Given the description of an element on the screen output the (x, y) to click on. 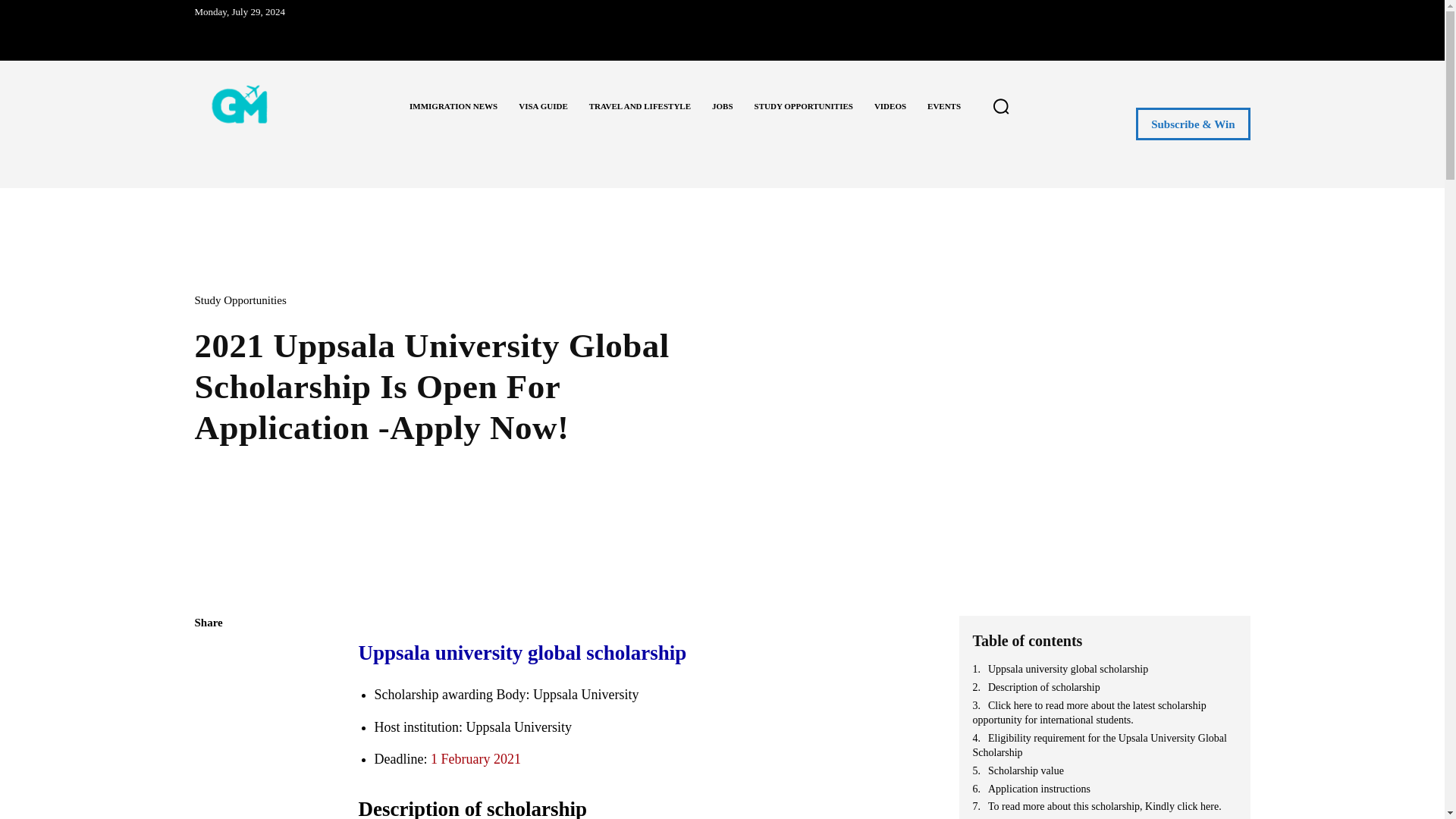
TRAVEL AND LIFESTYLE (639, 106)
Uppsala university global scholarship (1104, 669)
Scholarship value (1104, 770)
Application instructions (1104, 789)
IMMIGRATION NEWS (453, 106)
Study Opportunities (243, 300)
EVENTS (944, 106)
Description of scholarship (1104, 687)
STUDY OPPORTUNITIES (803, 106)
VISA GUIDE (543, 106)
To read more about this scholarship, Kindly click here. (1104, 806)
